Given the description of an element on the screen output the (x, y) to click on. 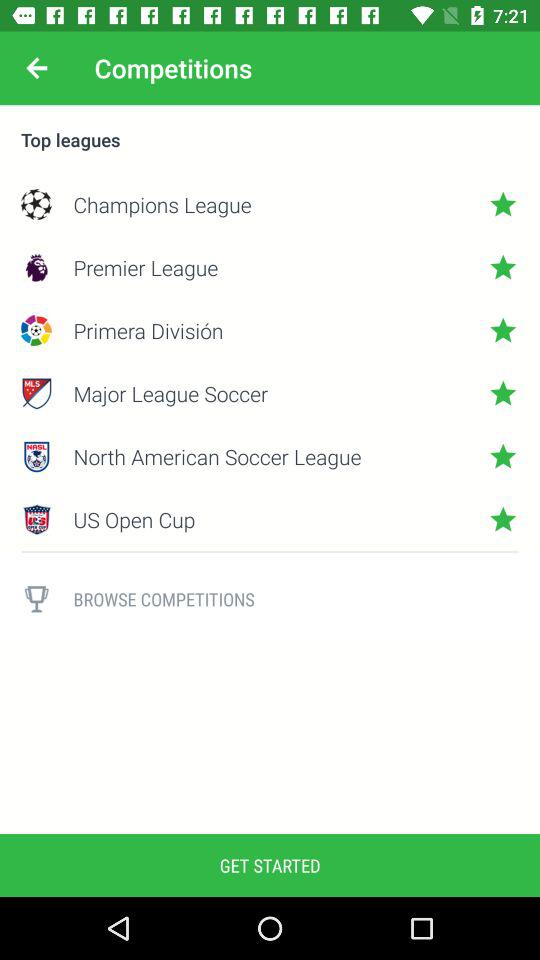
jump until champions league item (269, 204)
